Given the description of an element on the screen output the (x, y) to click on. 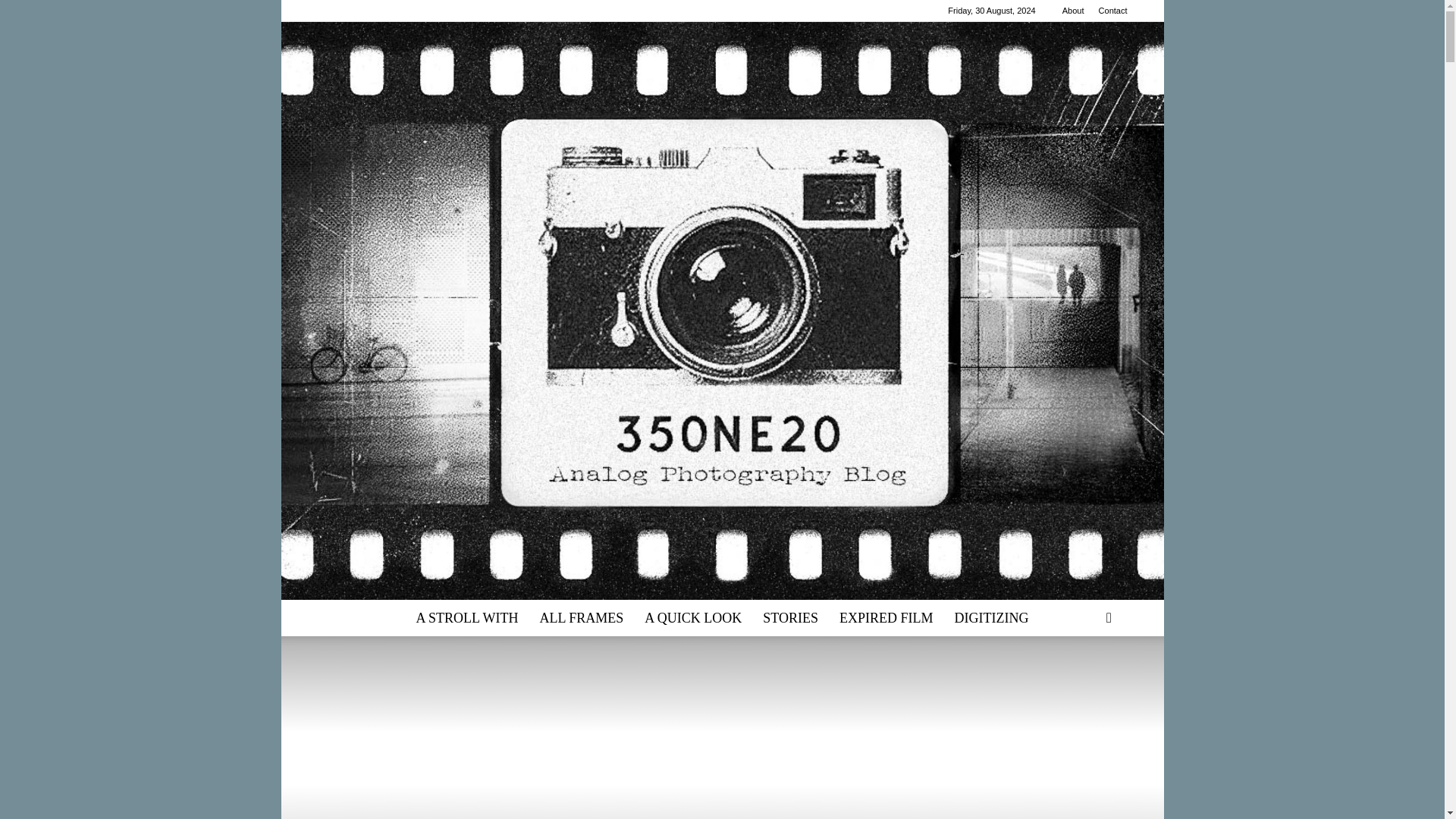
Contact (1112, 10)
About (1073, 10)
EXPIRED FILM (885, 617)
ALL FRAMES (580, 617)
A QUICK LOOK (692, 617)
DIGITIZING (991, 617)
Search (1085, 678)
A STROLL WITH (466, 617)
STORIES (790, 617)
